Given the description of an element on the screen output the (x, y) to click on. 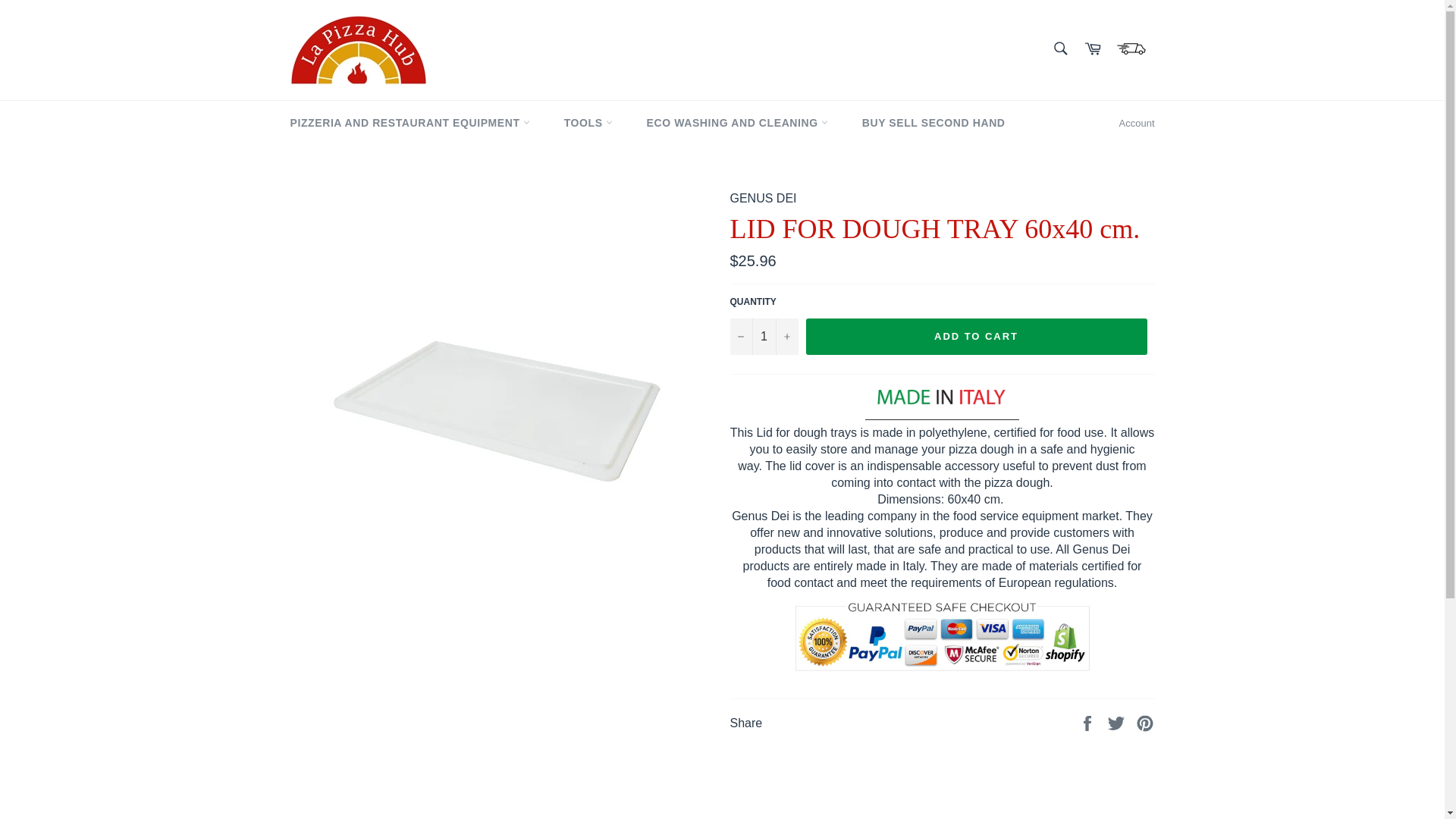
Search (1059, 48)
Tweet on Twitter (1117, 721)
TOOLS (587, 122)
Share on Facebook (1088, 721)
Pin on Pinterest (1144, 721)
PIZZERIA AND RESTAURANT EQUIPMENT (409, 122)
Cart (1131, 49)
1 (763, 336)
Cart (1092, 49)
